Given the description of an element on the screen output the (x, y) to click on. 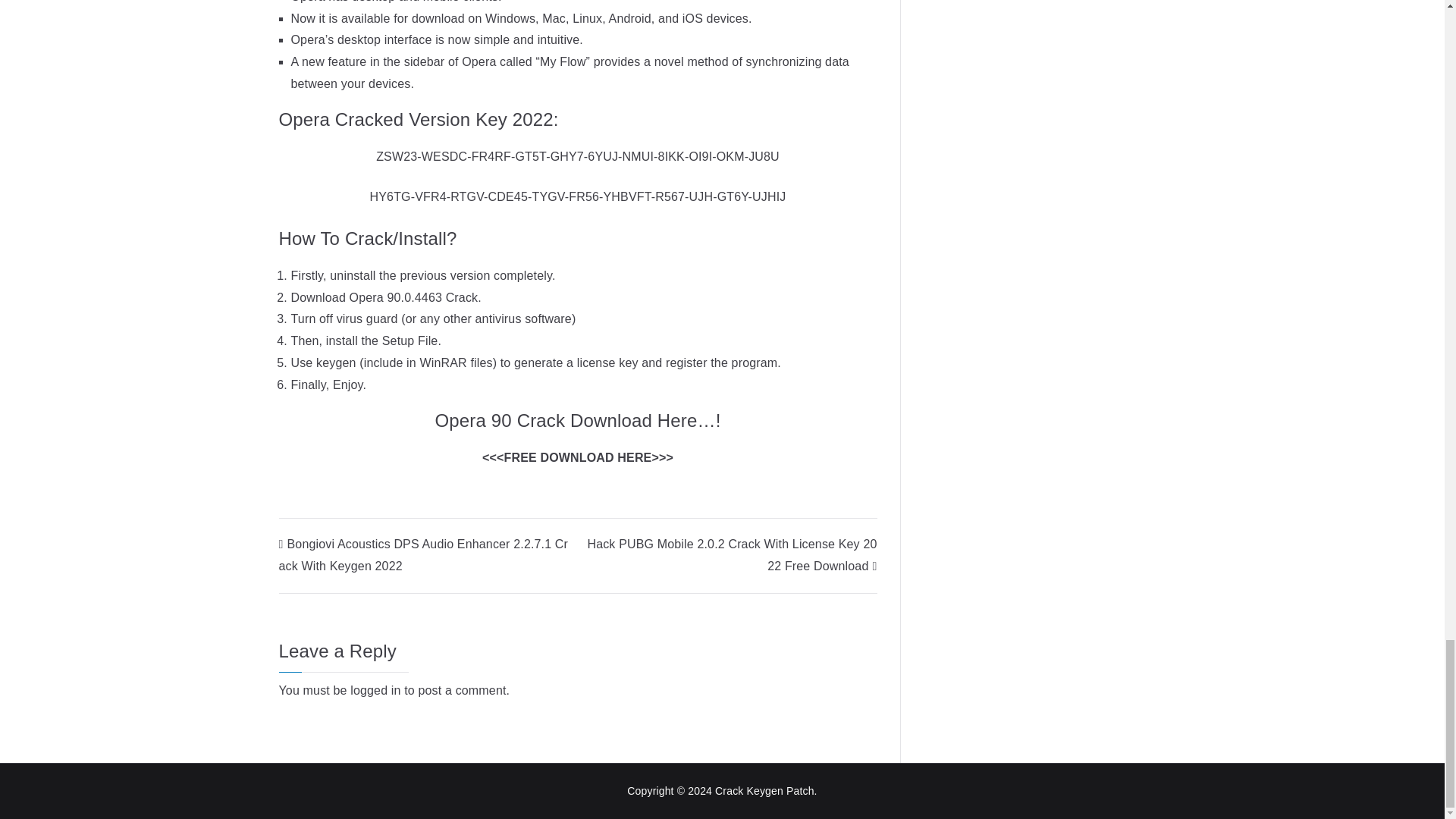
Crack Keygen Patch (763, 790)
